Given the description of an element on the screen output the (x, y) to click on. 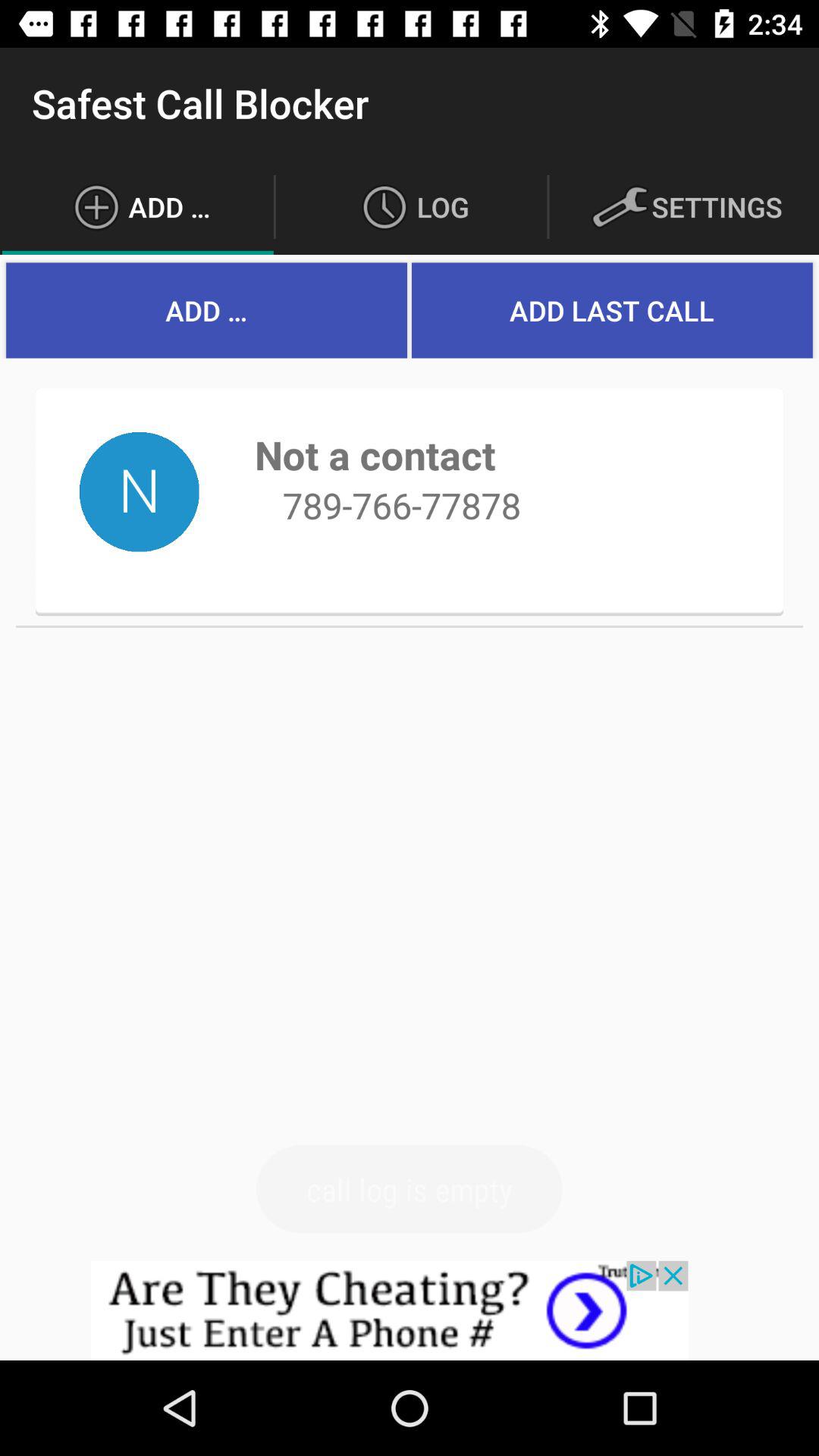
advertisement (409, 1310)
